Given the description of an element on the screen output the (x, y) to click on. 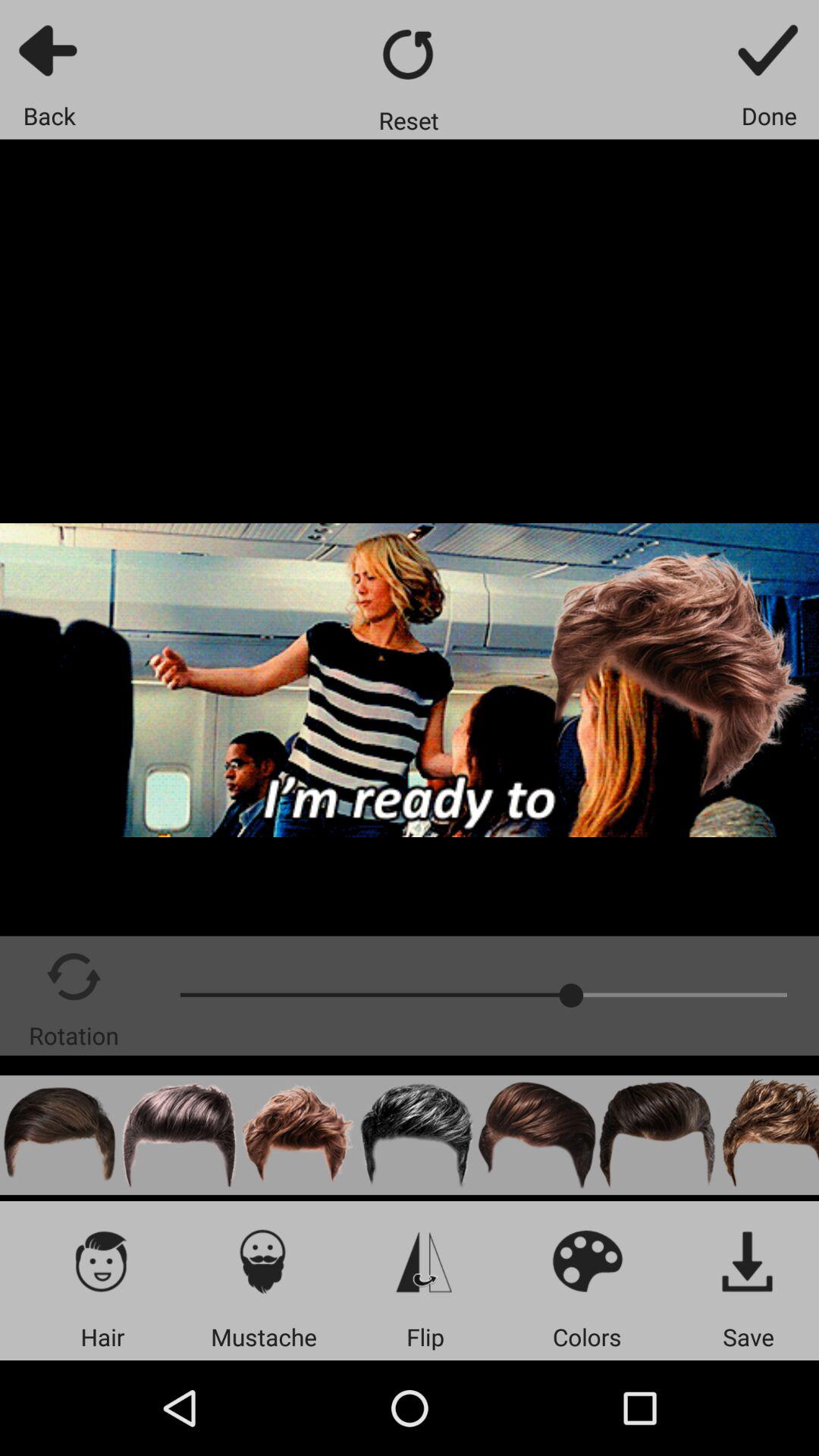
go back (49, 49)
